Given the description of an element on the screen output the (x, y) to click on. 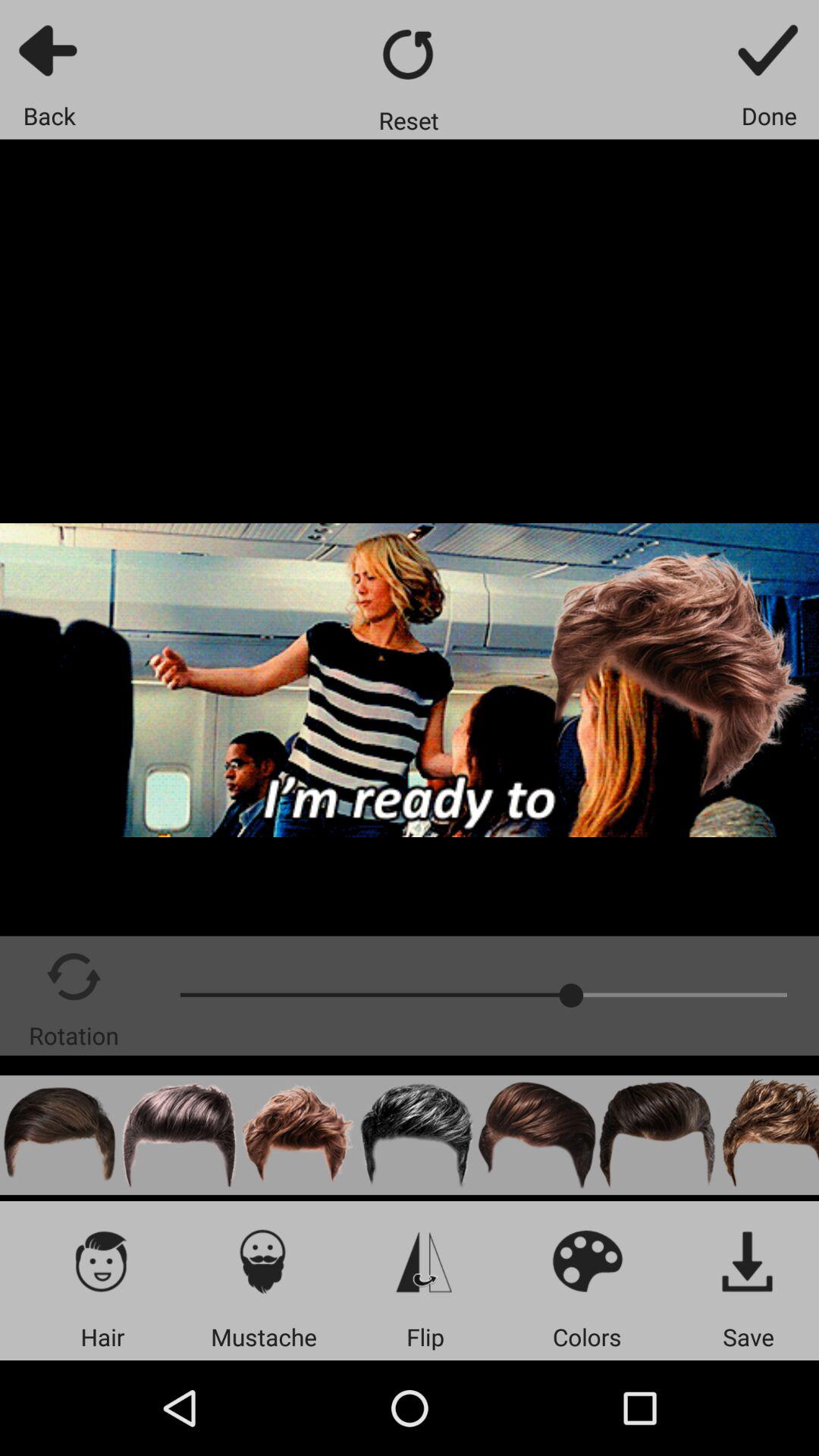
go back (49, 49)
